Given the description of an element on the screen output the (x, y) to click on. 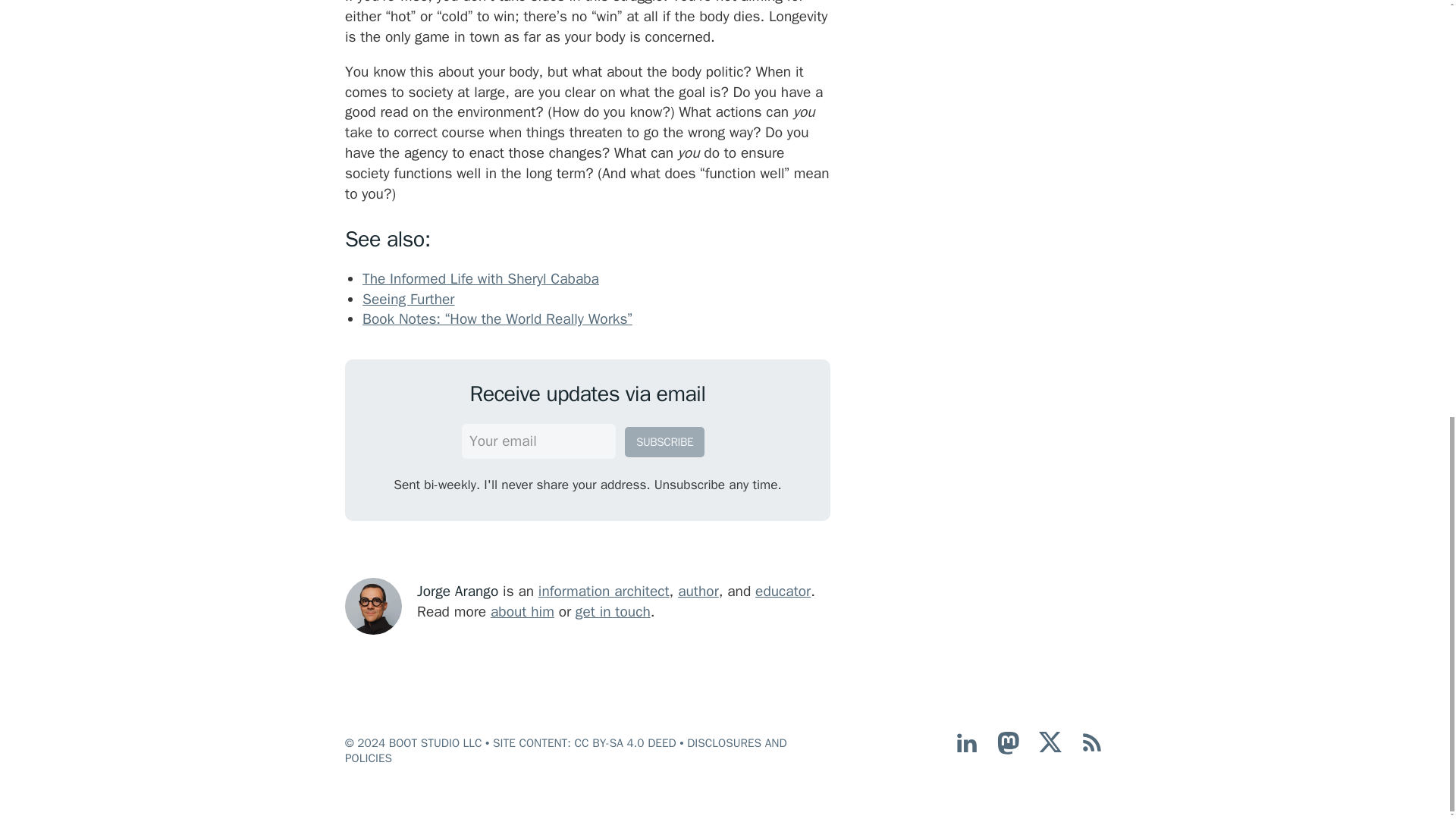
Your email (538, 441)
Subscribe (664, 441)
information architect (603, 591)
Site RSS feed (1091, 750)
get in touch (612, 611)
educator (782, 591)
author (698, 591)
Subscribe (664, 441)
DISCLOSURES AND POLICIES (566, 750)
The Informed Life with Sheryl Cababa (480, 279)
Jorge Arango on LinkedIn (966, 750)
about him (522, 611)
Seeing Further (408, 299)
SITE CONTENT: CC BY-SA 4.0 DEED (585, 743)
